Given the description of an element on the screen output the (x, y) to click on. 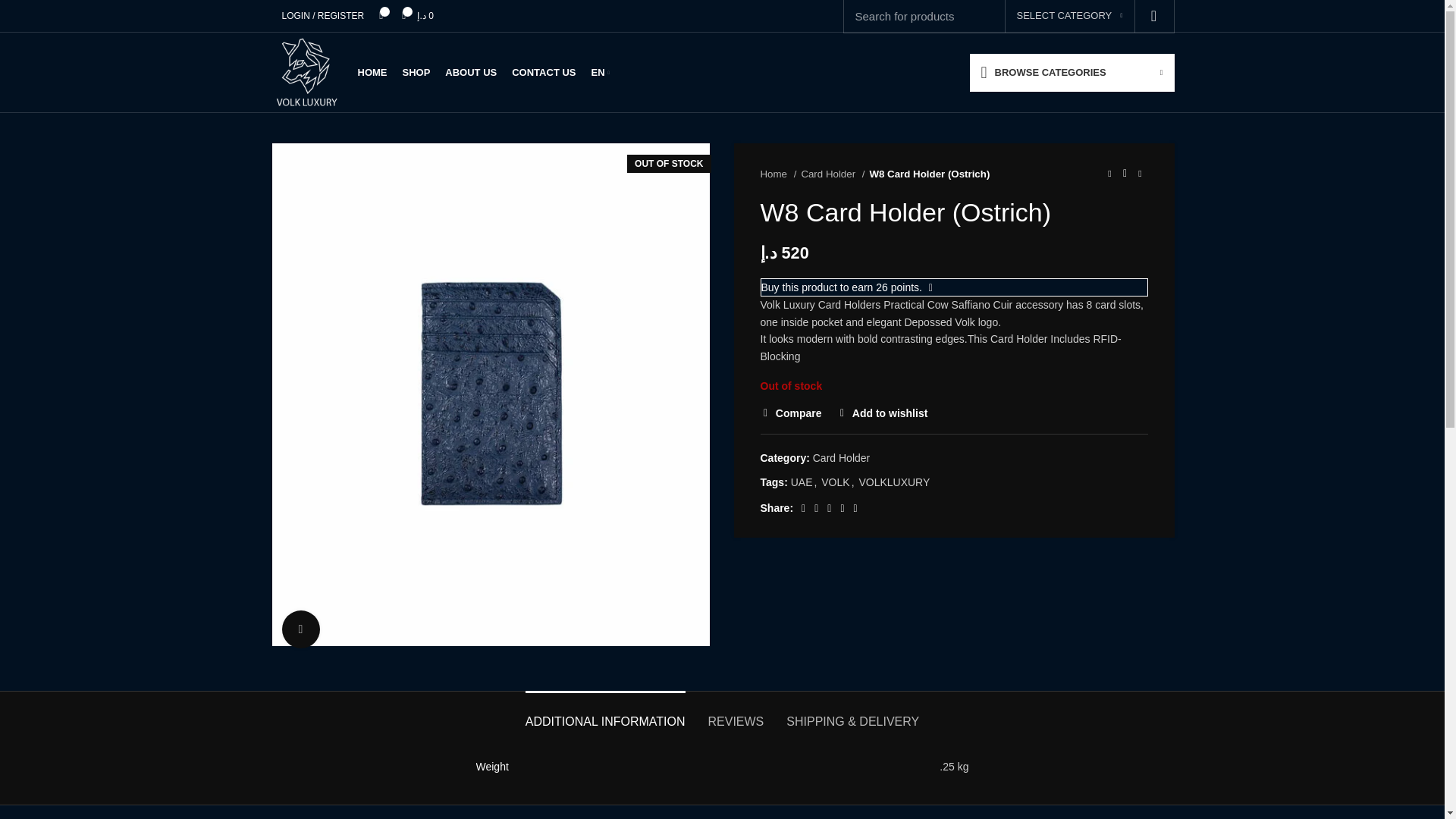
HOME (372, 72)
My account (323, 15)
SELECT CATEGORY (1069, 16)
CONTACT US (543, 72)
Home (778, 173)
EN (600, 72)
Shopping cart (417, 15)
ABOUT US (470, 72)
SHOP (416, 72)
SEARCH (1153, 16)
Search for products (1008, 16)
SELECT CATEGORY (1069, 16)
Card Holder (832, 173)
